Given the description of an element on the screen output the (x, y) to click on. 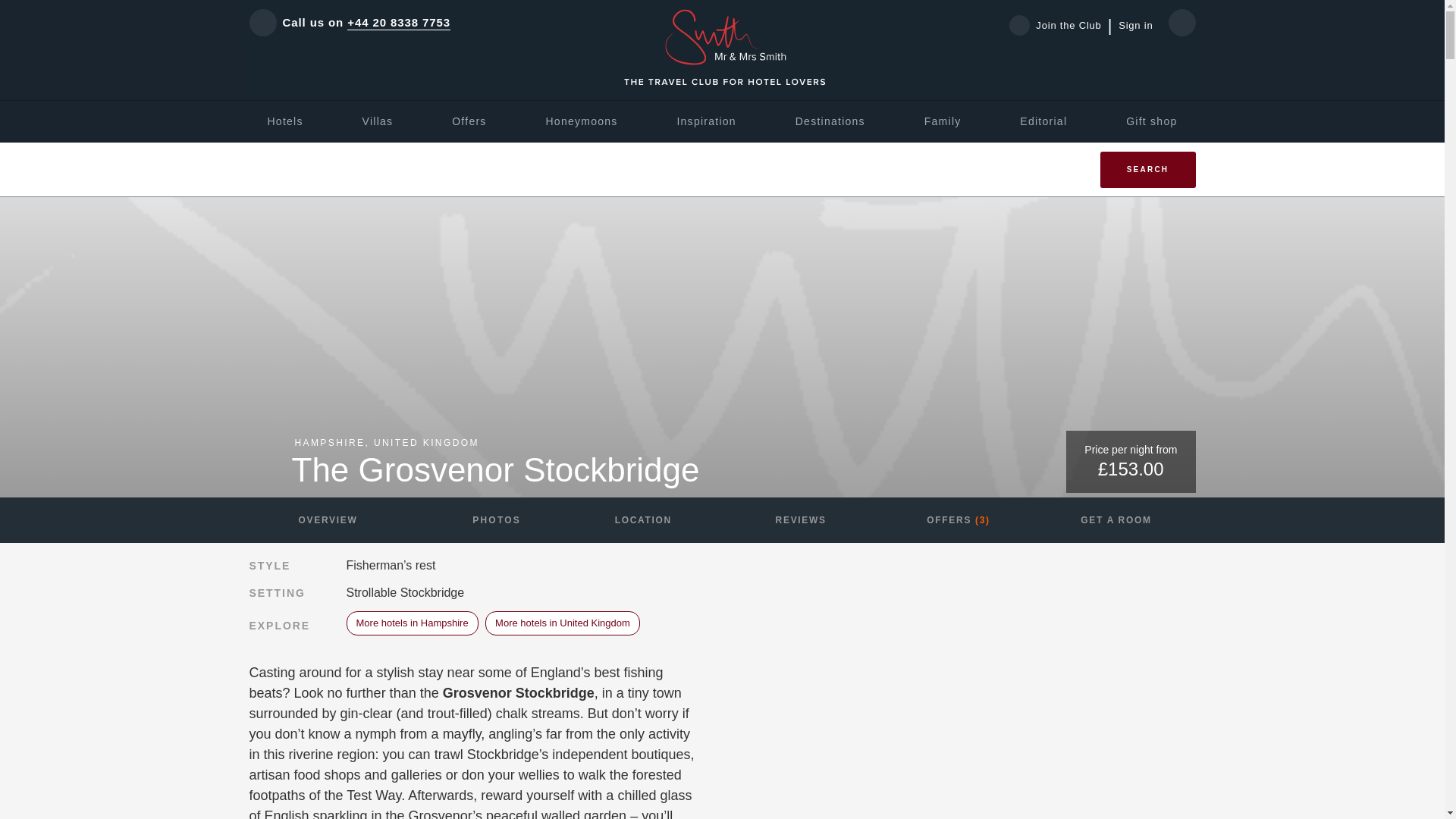
Villas (377, 121)
PHOTOS (485, 520)
Join the Club (1060, 25)
Inspiration (706, 121)
Honeymoons (580, 121)
Destinations (829, 121)
LOCATION (642, 520)
Hotels (284, 121)
Editorial (1043, 121)
Sign in (1135, 25)
Gift shop (1150, 121)
Offers (468, 121)
REVIEWS (801, 520)
UNITED KINGDOM (426, 442)
OVERVIEW (328, 520)
